Given the description of an element on the screen output the (x, y) to click on. 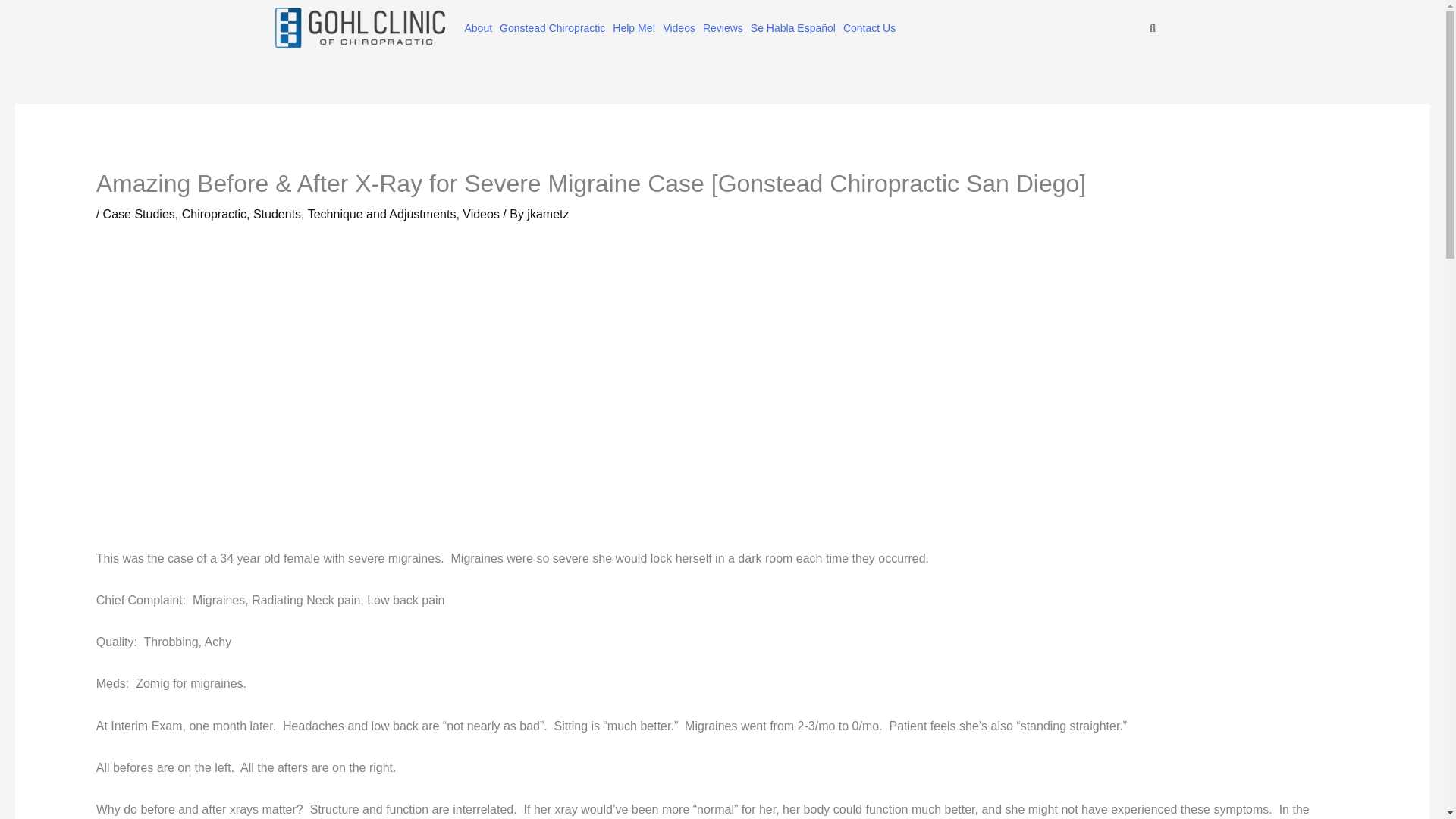
Gonstead Chiropractic (552, 27)
About (478, 27)
Videos (678, 27)
Help Me! (633, 27)
Contact Us (869, 27)
Reviews (722, 27)
View all posts by jkametz (548, 214)
